Given the description of an element on the screen output the (x, y) to click on. 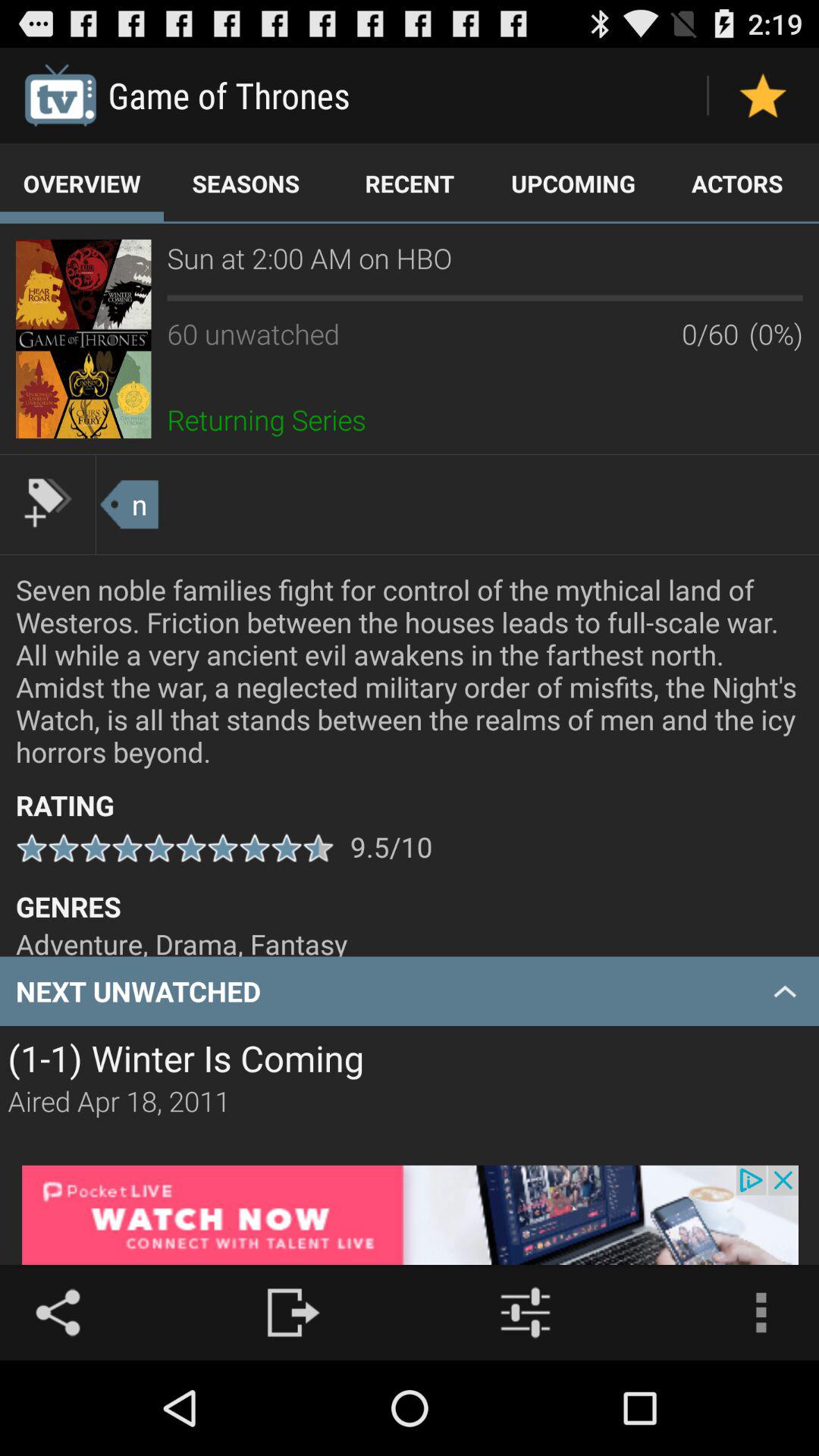
for adverisment (409, 1214)
